Given the description of an element on the screen output the (x, y) to click on. 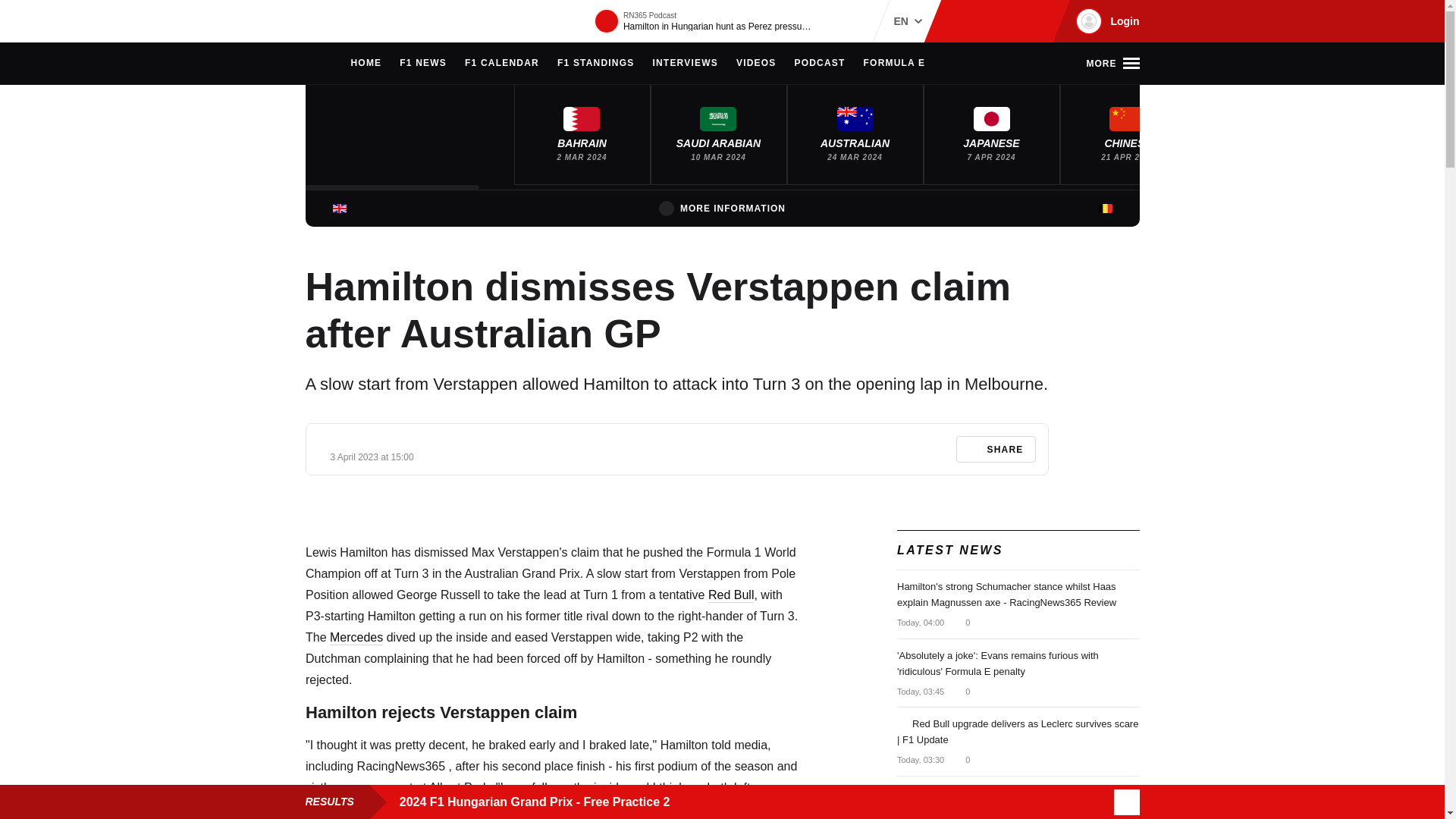
RacingNews365 (350, 21)
VIDEOS (756, 63)
FORMULA E (894, 63)
RacingNews365 on X (1010, 21)
Monday 3 April 2023 at 15:00 (371, 457)
RacingNews365 on Instagram (962, 21)
Login (1104, 21)
RacingNews365 on Facebook (986, 21)
F1 NEWS (422, 63)
F1 CALENDAR (501, 63)
F1 STANDINGS (595, 63)
RacingNews365 on YouTube (1034, 21)
MORE INFORMATION (722, 208)
INTERVIEWS (684, 63)
PODCAST (818, 63)
